Given the description of an element on the screen output the (x, y) to click on. 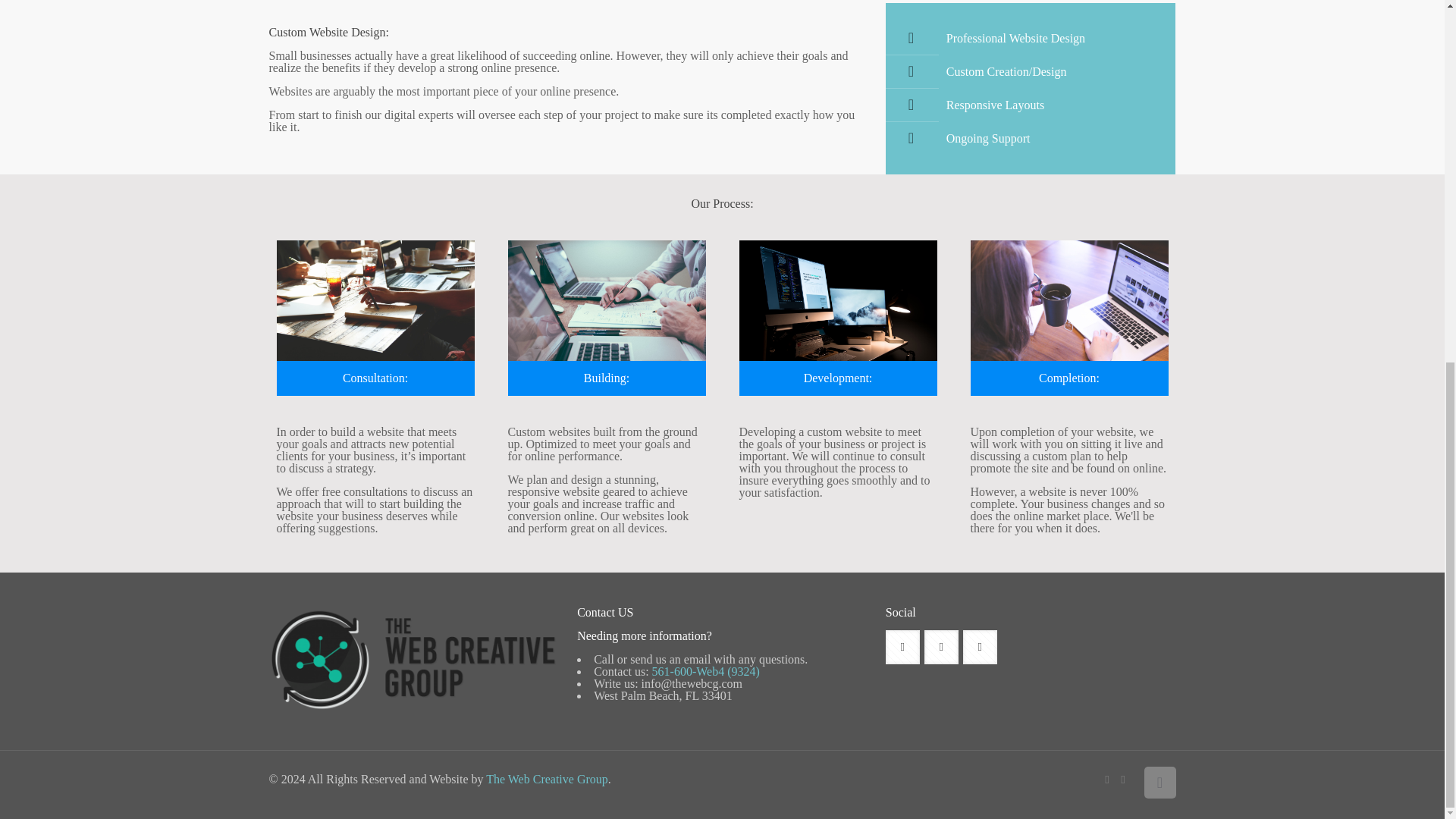
Instagram (1123, 779)
Facebook (1106, 779)
The Web Creative Group (547, 779)
